Given the description of an element on the screen output the (x, y) to click on. 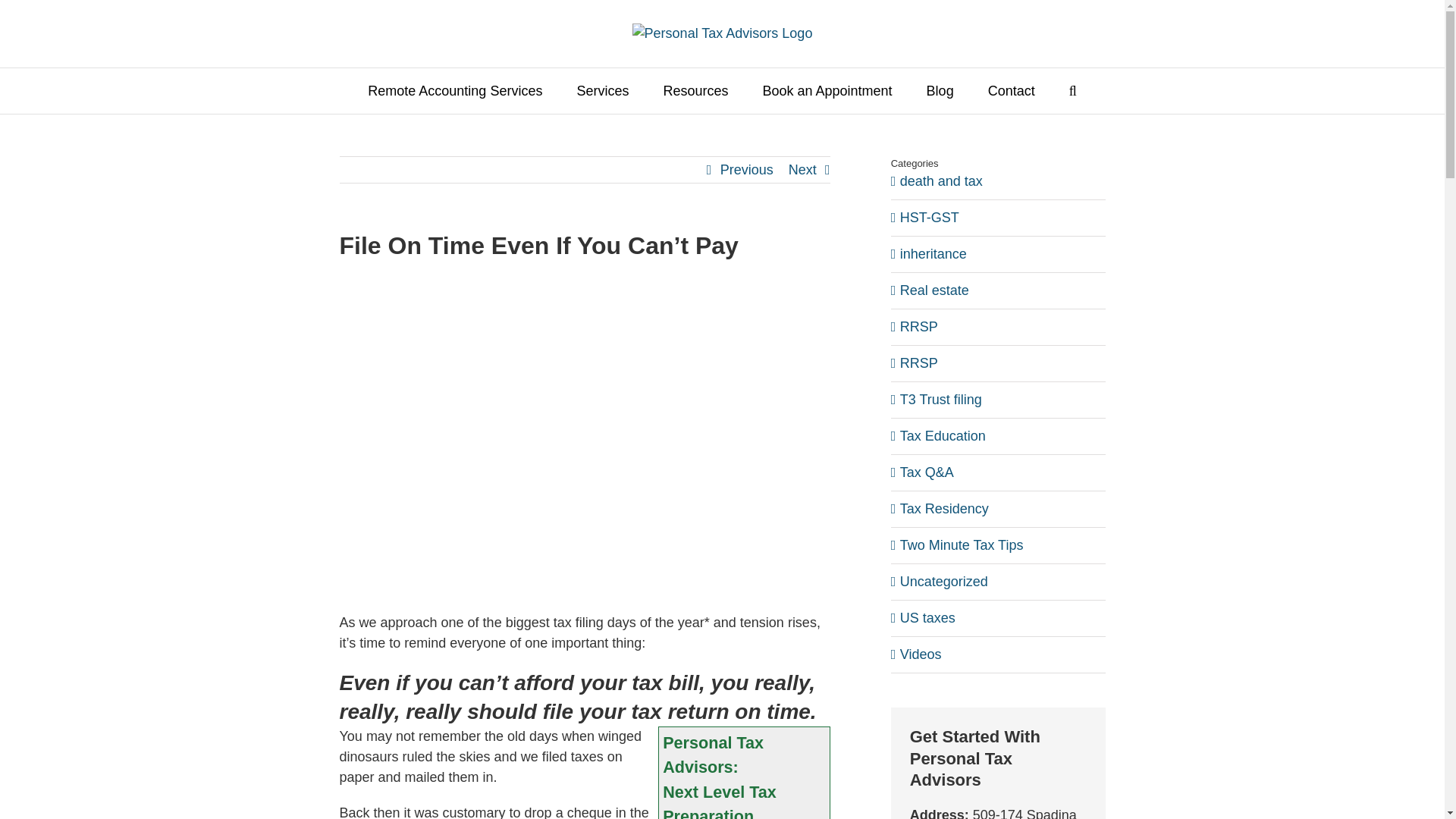
Next (802, 169)
Previous (746, 169)
Services (602, 90)
Remote Accounting Services (454, 90)
Resources (695, 90)
Book an Appointment (826, 90)
Contact (1011, 90)
